Given the description of an element on the screen output the (x, y) to click on. 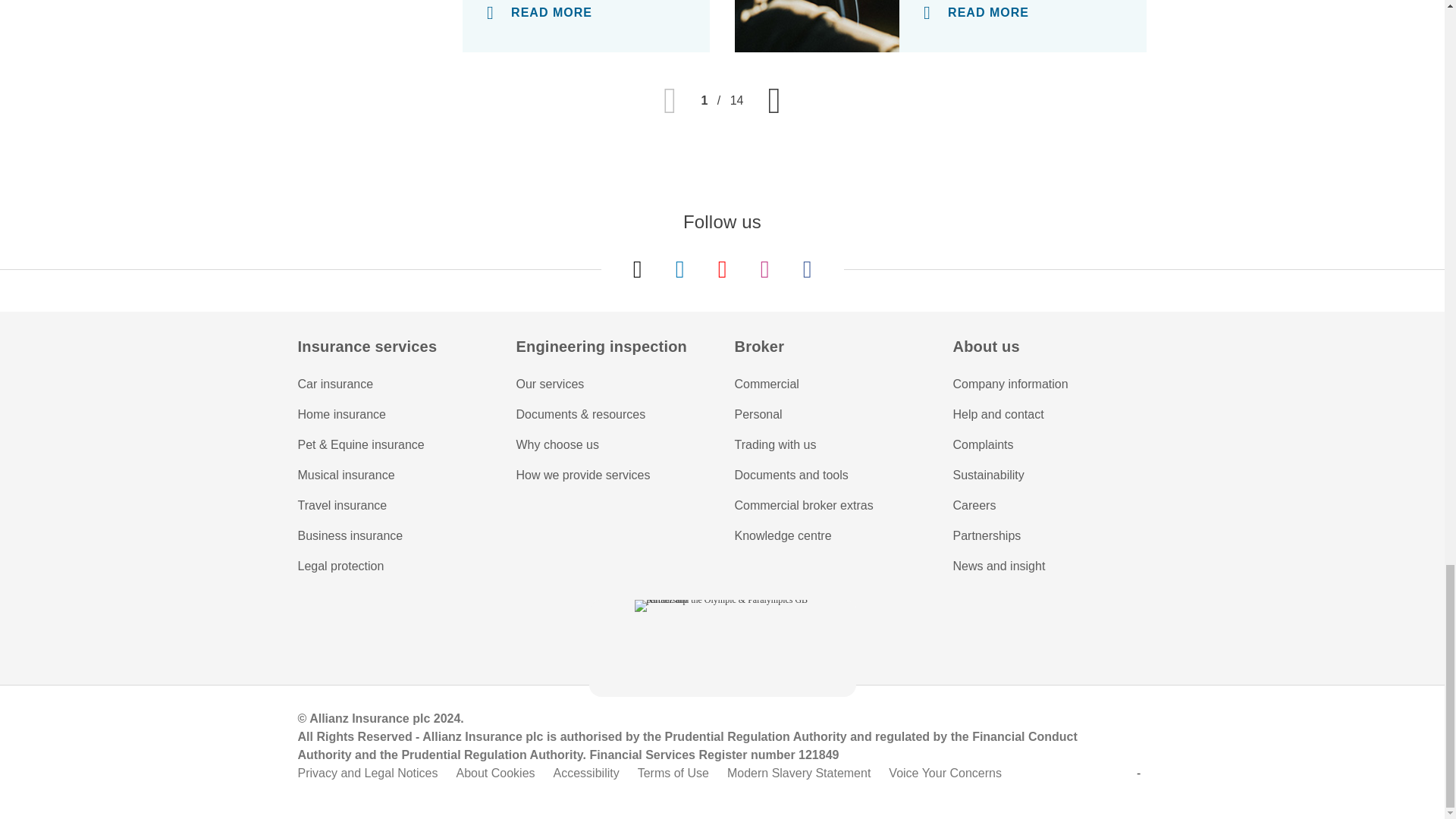
link to Allianz broker on X (636, 269)
Allianz Insurance on Facebook (806, 269)
link to Allianz Insurance on Instagram (764, 269)
link to Allianz Insurance on Linkedin (678, 269)
link to Allianz Insurance on Youtube (721, 269)
